Given the description of an element on the screen output the (x, y) to click on. 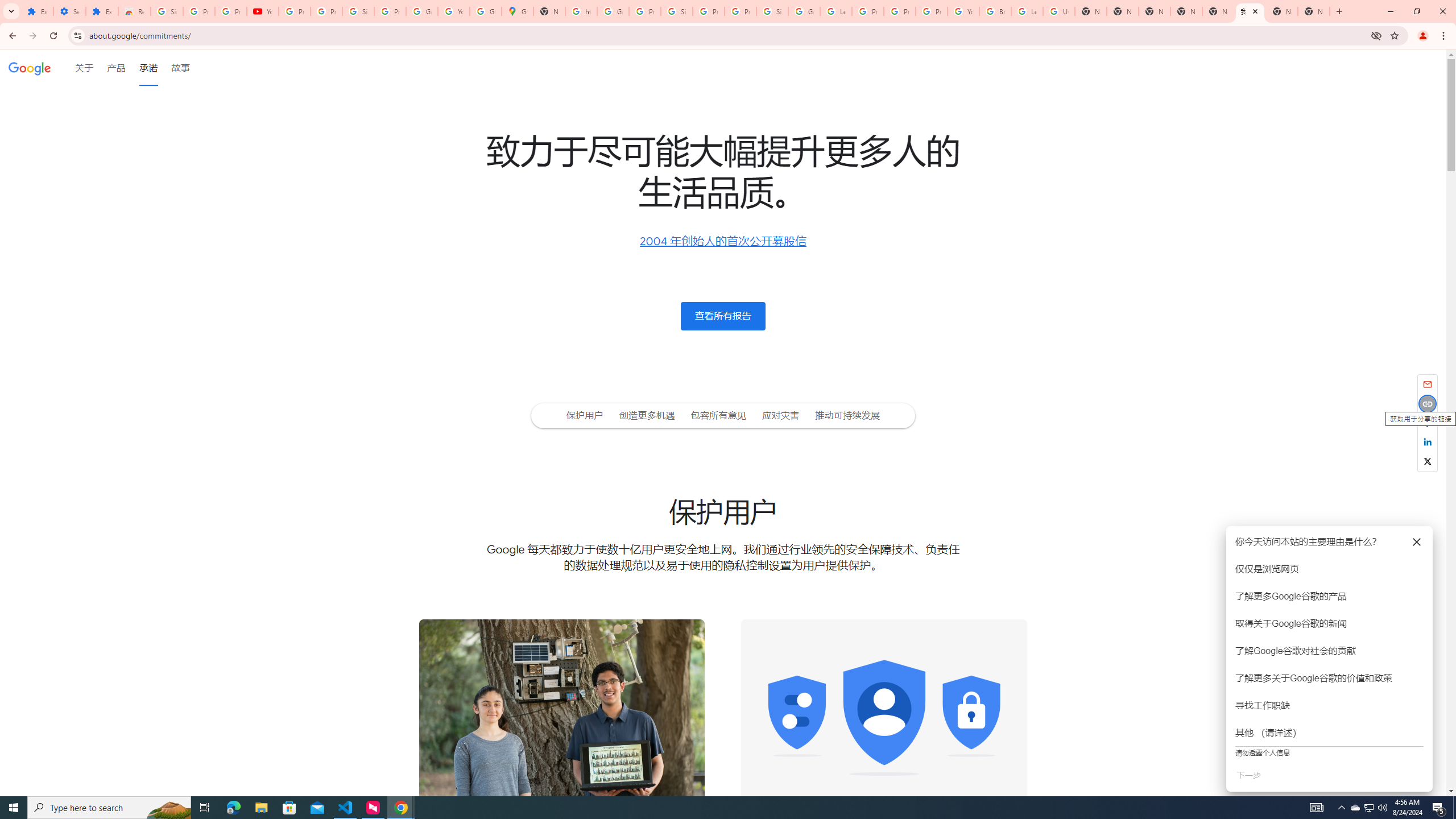
Google (29, 67)
Settings (69, 11)
New Tab (1313, 11)
Privacy Help Center - Policies Help (868, 11)
Sign in - Google Accounts (676, 11)
Sign in - Google Accounts (166, 11)
